Given the description of an element on the screen output the (x, y) to click on. 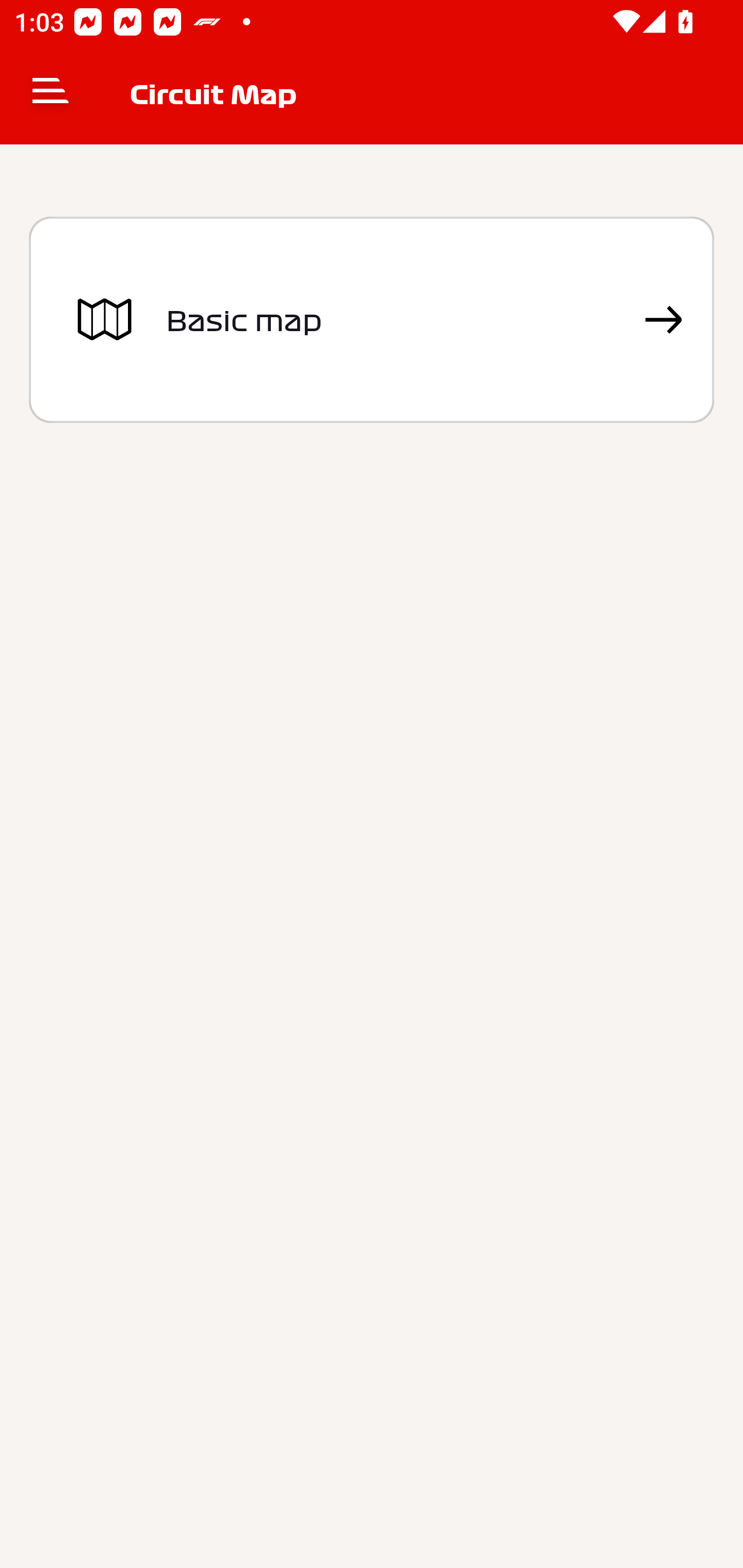
Navigate up (50, 93)
Basic map (371, 319)
